Given the description of an element on the screen output the (x, y) to click on. 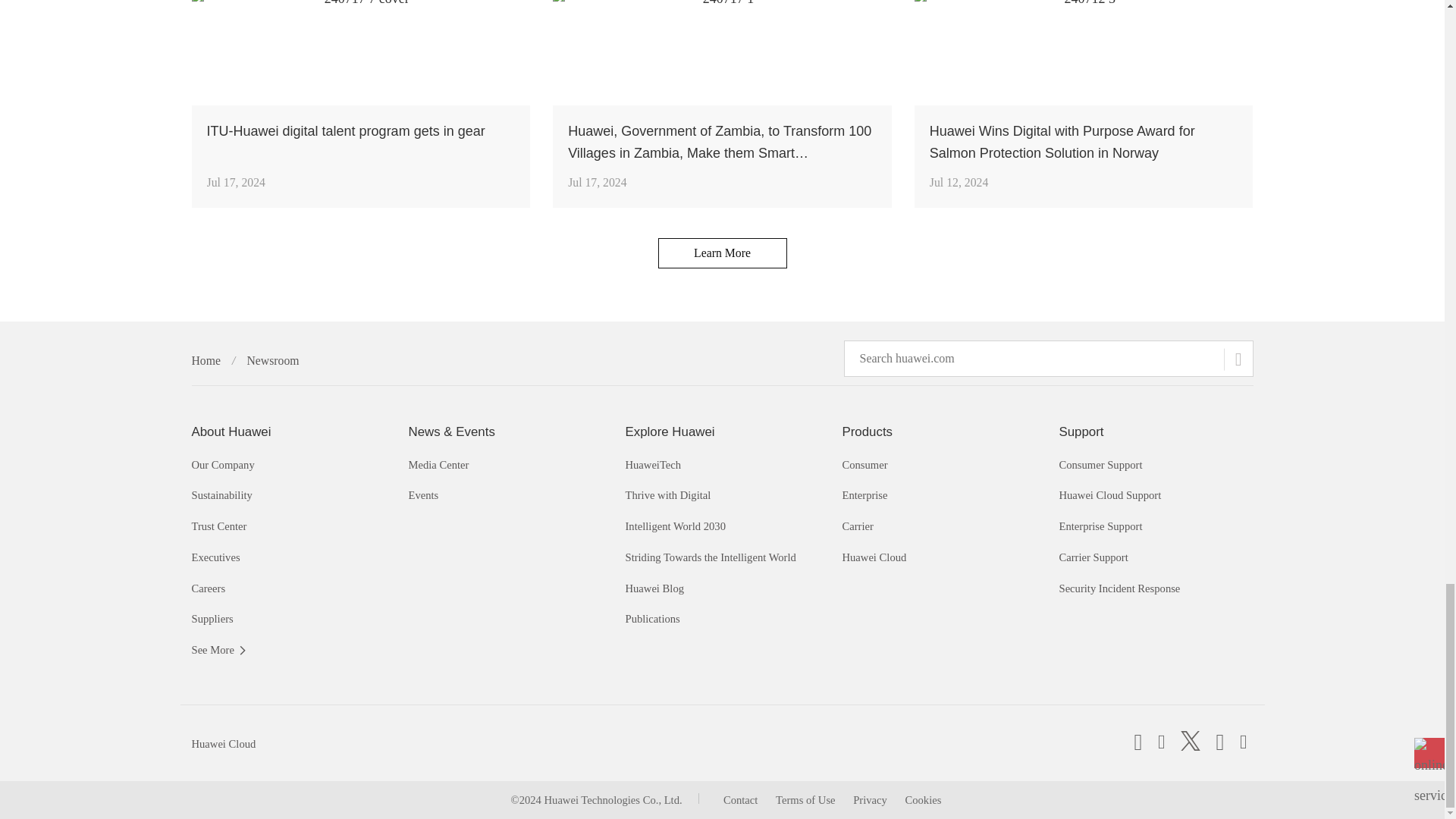
Learn More (722, 253)
